Given the description of an element on the screen output the (x, y) to click on. 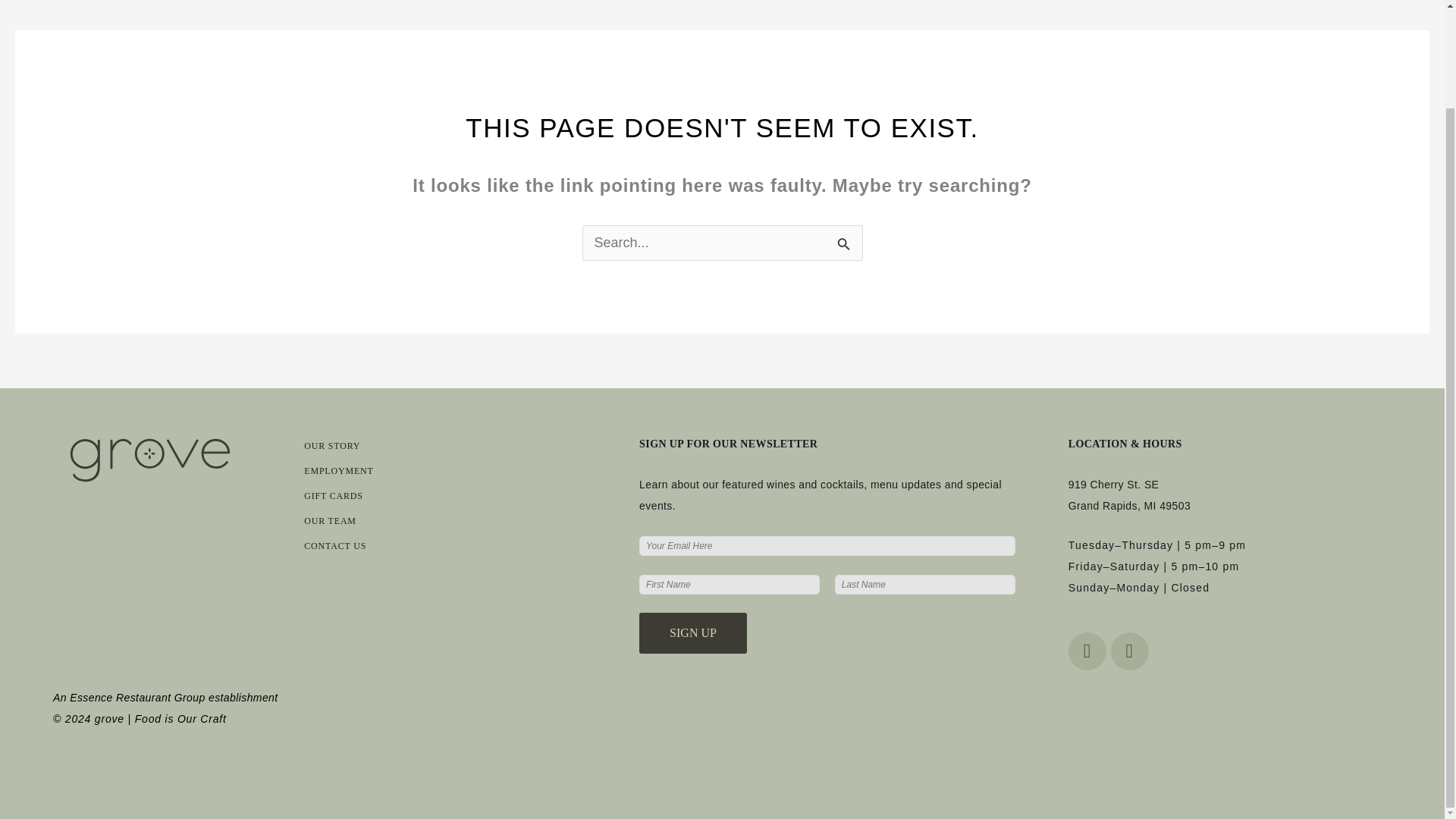
CONTACT US (335, 545)
Facebook (1087, 651)
Sign up (692, 632)
2024 (77, 718)
GIFT CARDS (333, 495)
Sign up (692, 632)
Instagram (1129, 651)
EMPLOYMENT (338, 470)
OUR TEAM (330, 520)
OUR STORY (331, 445)
